Given the description of an element on the screen output the (x, y) to click on. 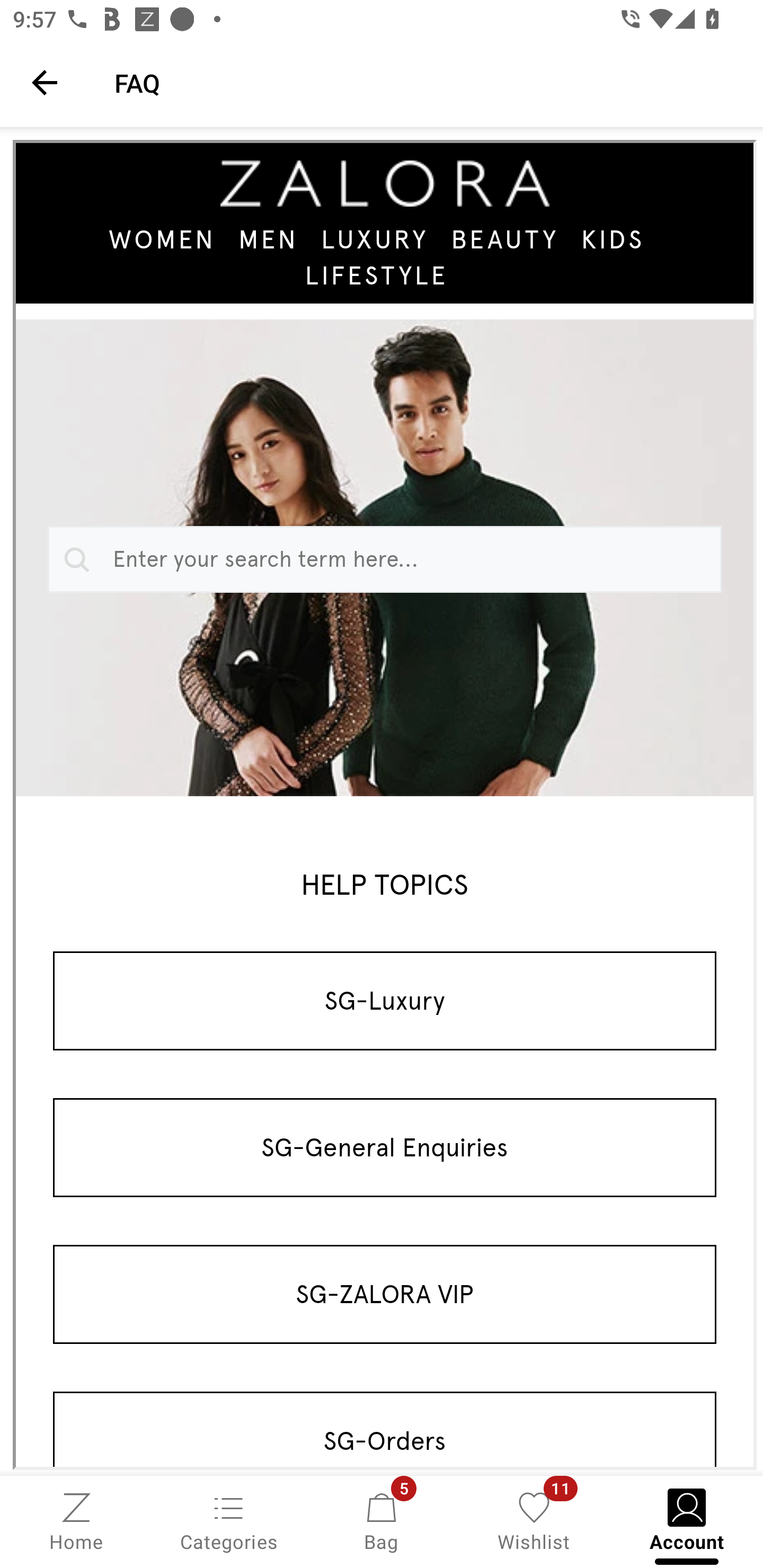
Navigate up (44, 82)
FAQ (426, 82)
logo (384, 182)
WOMEN (162, 239)
MEN (268, 239)
LUXURY (374, 239)
BEAUTY (504, 239)
KIDS (612, 239)
LIFESTYLE (376, 274)
Search (72, 559)
SG-Luxury (384, 999)
SG-General Enquiries (384, 1146)
SG-ZALORA VIP (384, 1294)
SG-Orders (384, 1429)
Home (76, 1519)
Categories (228, 1519)
Bag, 5 new notifications Bag (381, 1519)
Wishlist, 11 new notifications Wishlist (533, 1519)
